Given the description of an element on the screen output the (x, y) to click on. 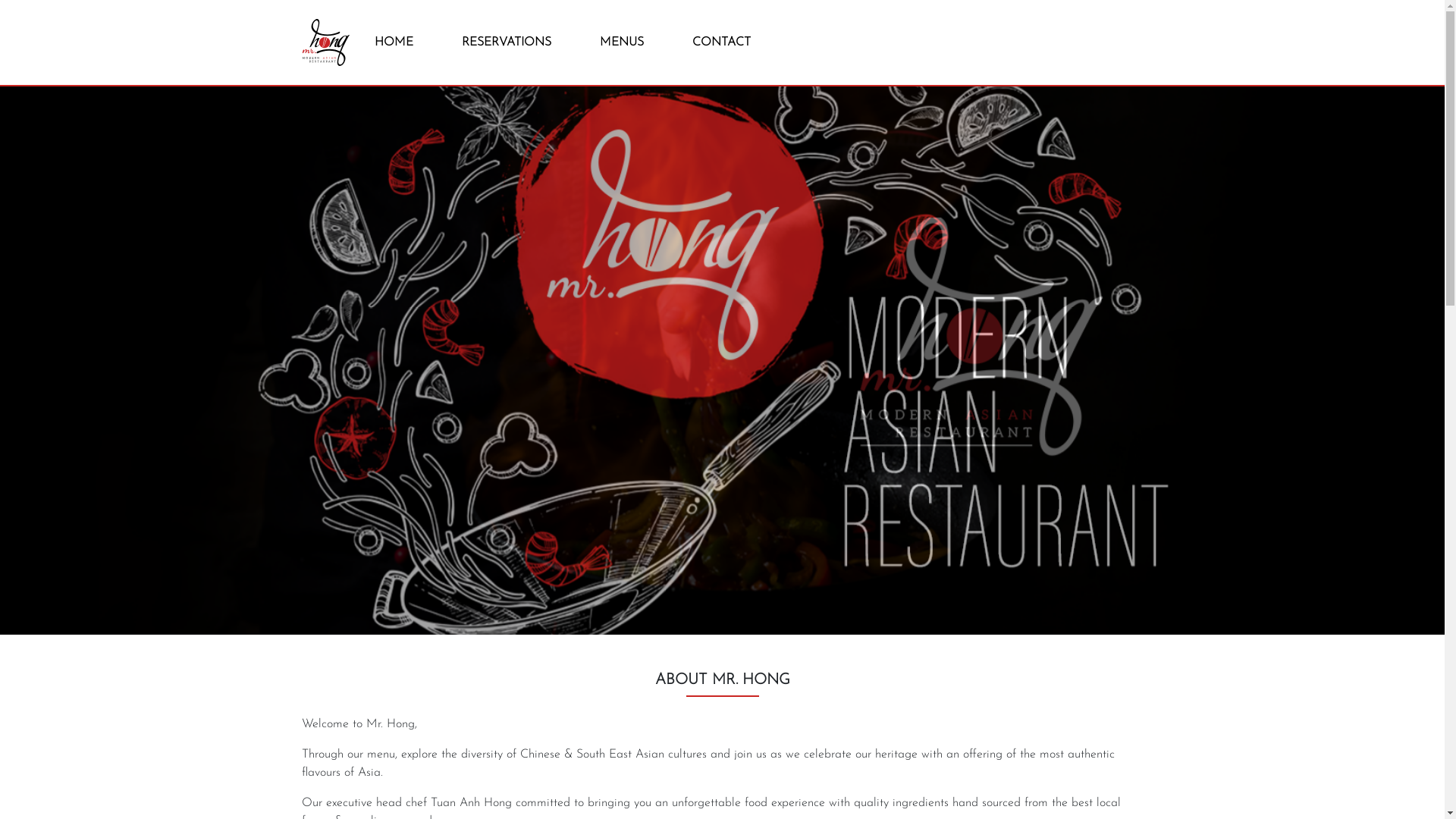
HOME Element type: text (393, 42)
RESERVATIONS Element type: text (505, 42)
MENUS Element type: text (621, 42)
CONTACT Element type: text (720, 42)
